Given the description of an element on the screen output the (x, y) to click on. 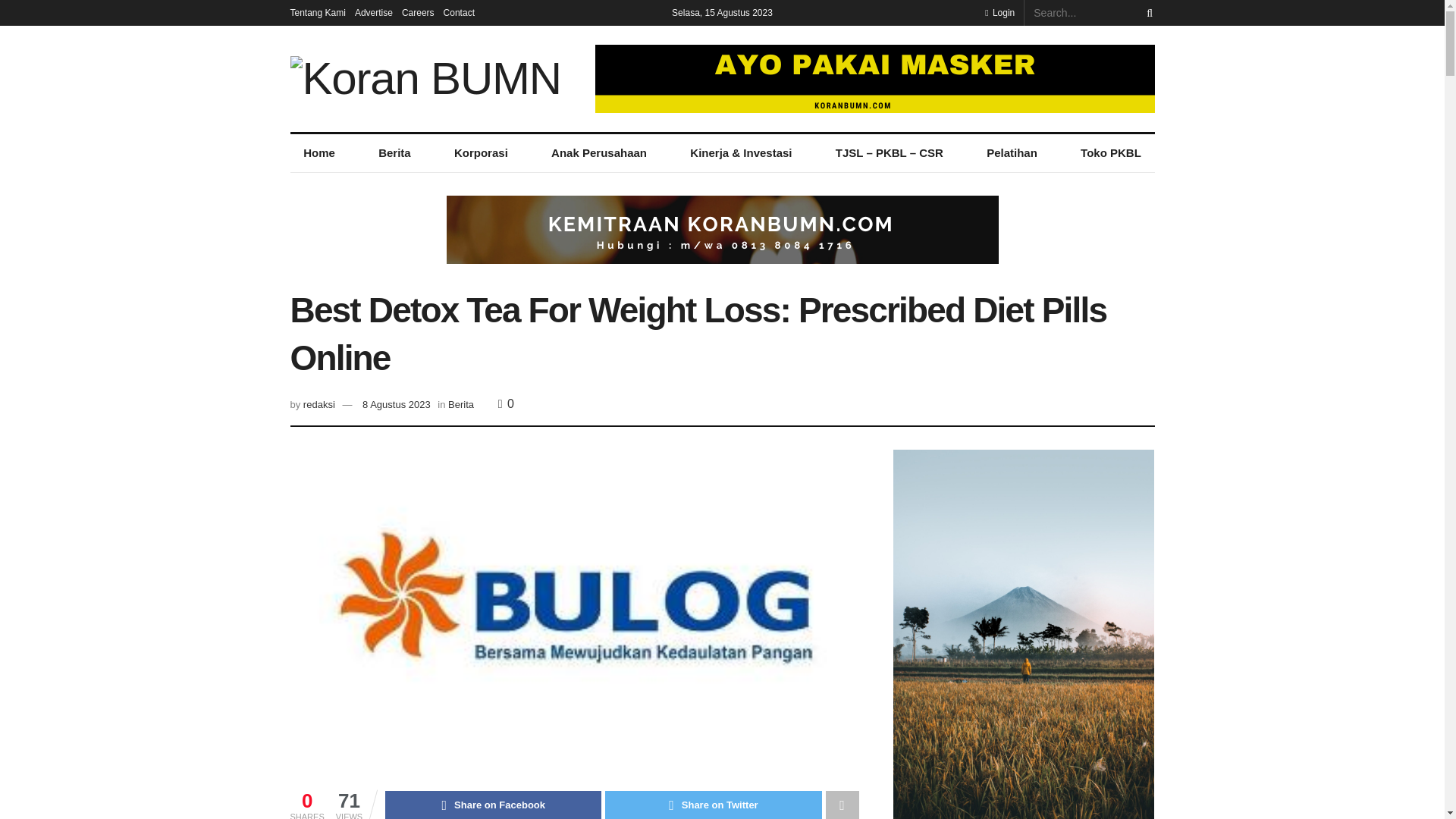
redaksi (318, 404)
Anak Perusahaan (598, 152)
Home (318, 152)
Korporasi (481, 152)
Careers (417, 12)
Advertise (374, 12)
Berita (461, 404)
Berita (394, 152)
Tentang Kami (317, 12)
8 Agustus 2023 (396, 404)
Toko PKBL (1110, 152)
Share on Facebook (493, 805)
Login (999, 12)
Contact (459, 12)
0 (505, 403)
